Given the description of an element on the screen output the (x, y) to click on. 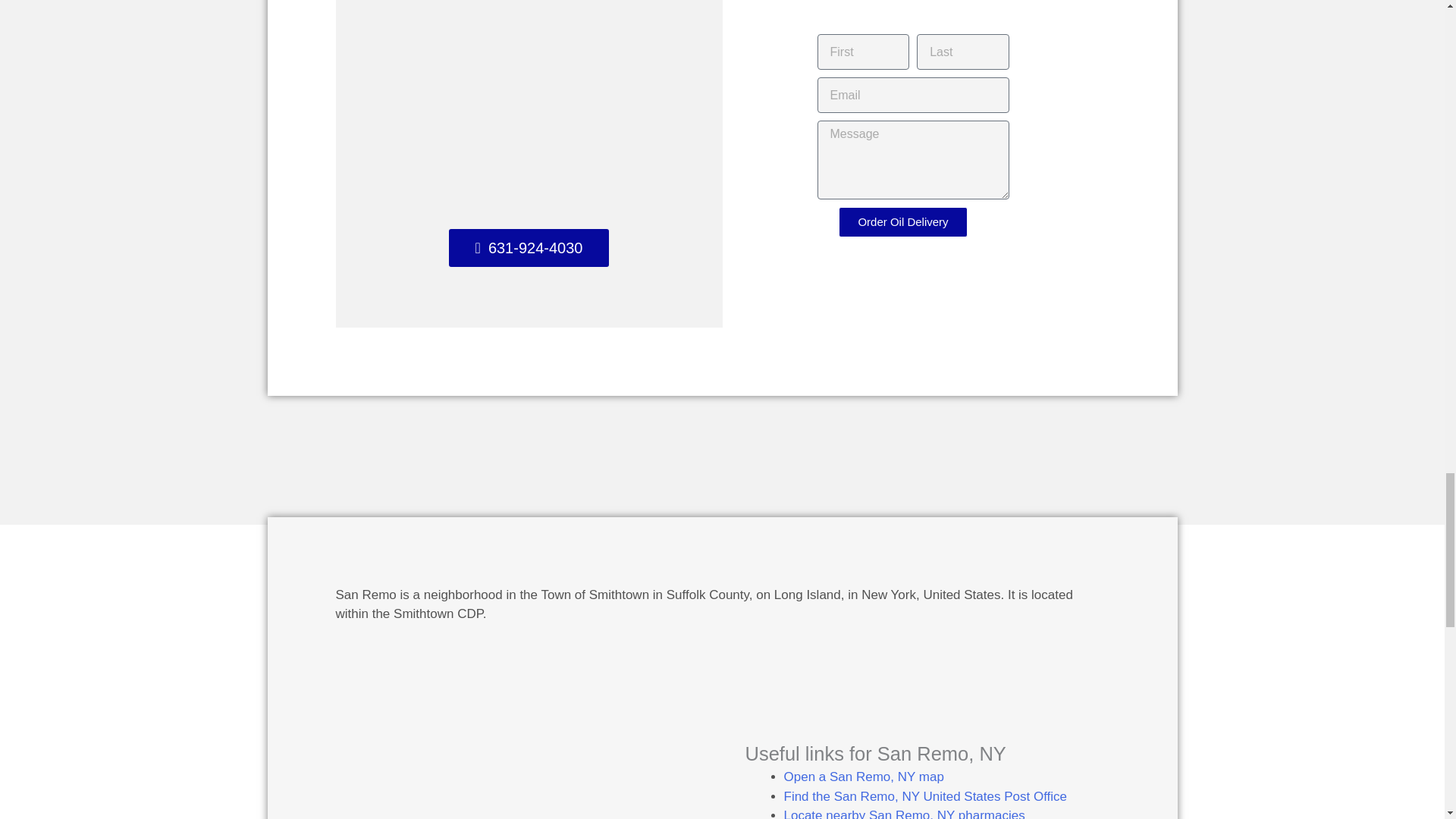
Locate nearby San Remo, NY pharmacies (904, 813)
631-924-4030 (529, 247)
Find the San Remo, NY United States Post Office (925, 796)
Order Oil Delivery (902, 222)
Open a San Remo, NY map (863, 776)
